Given the description of an element on the screen output the (x, y) to click on. 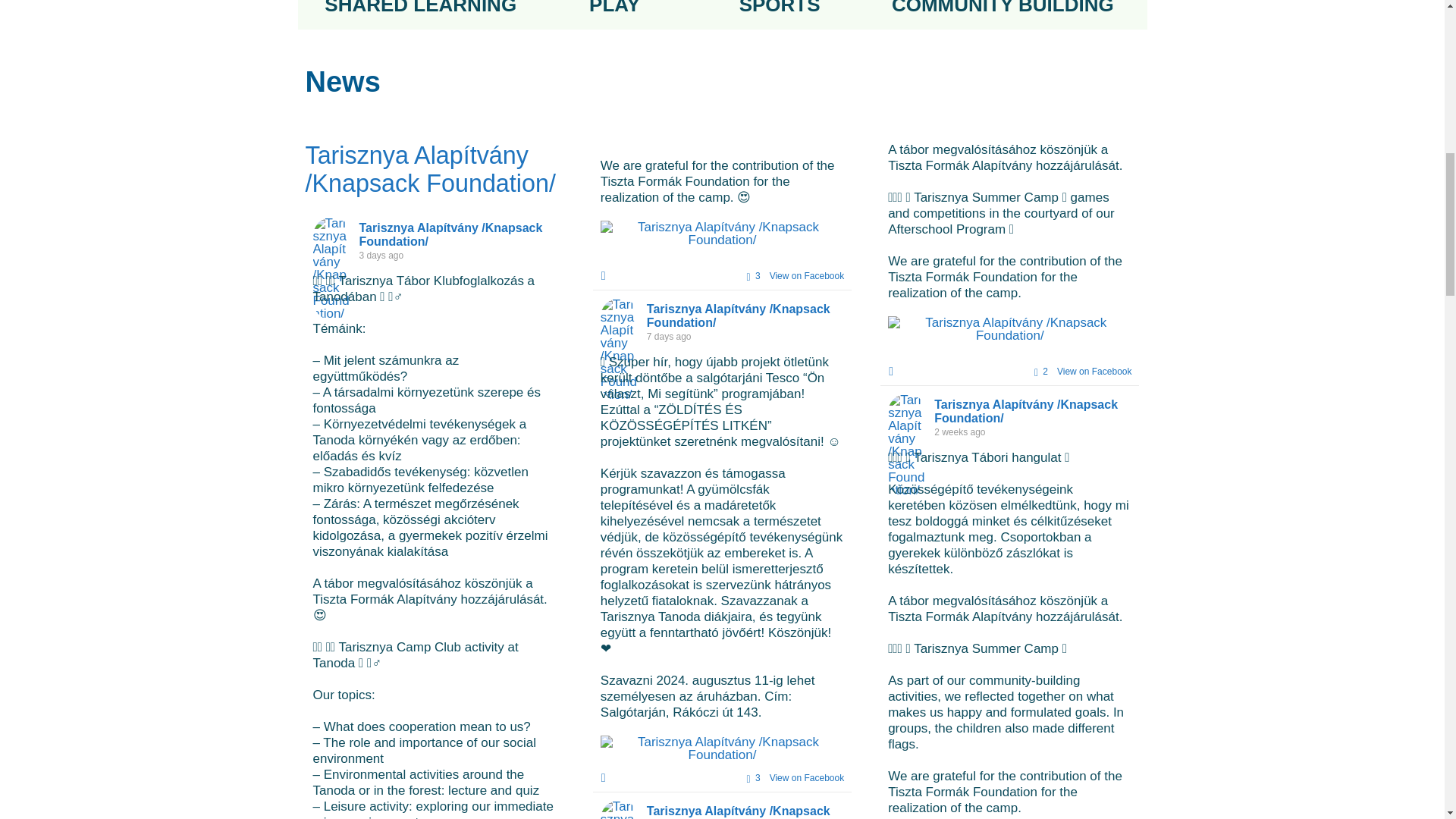
3View on Facebook (791, 778)
Social Share Options (605, 778)
Social Share Options (605, 276)
3View on Facebook (791, 276)
